Given the description of an element on the screen output the (x, y) to click on. 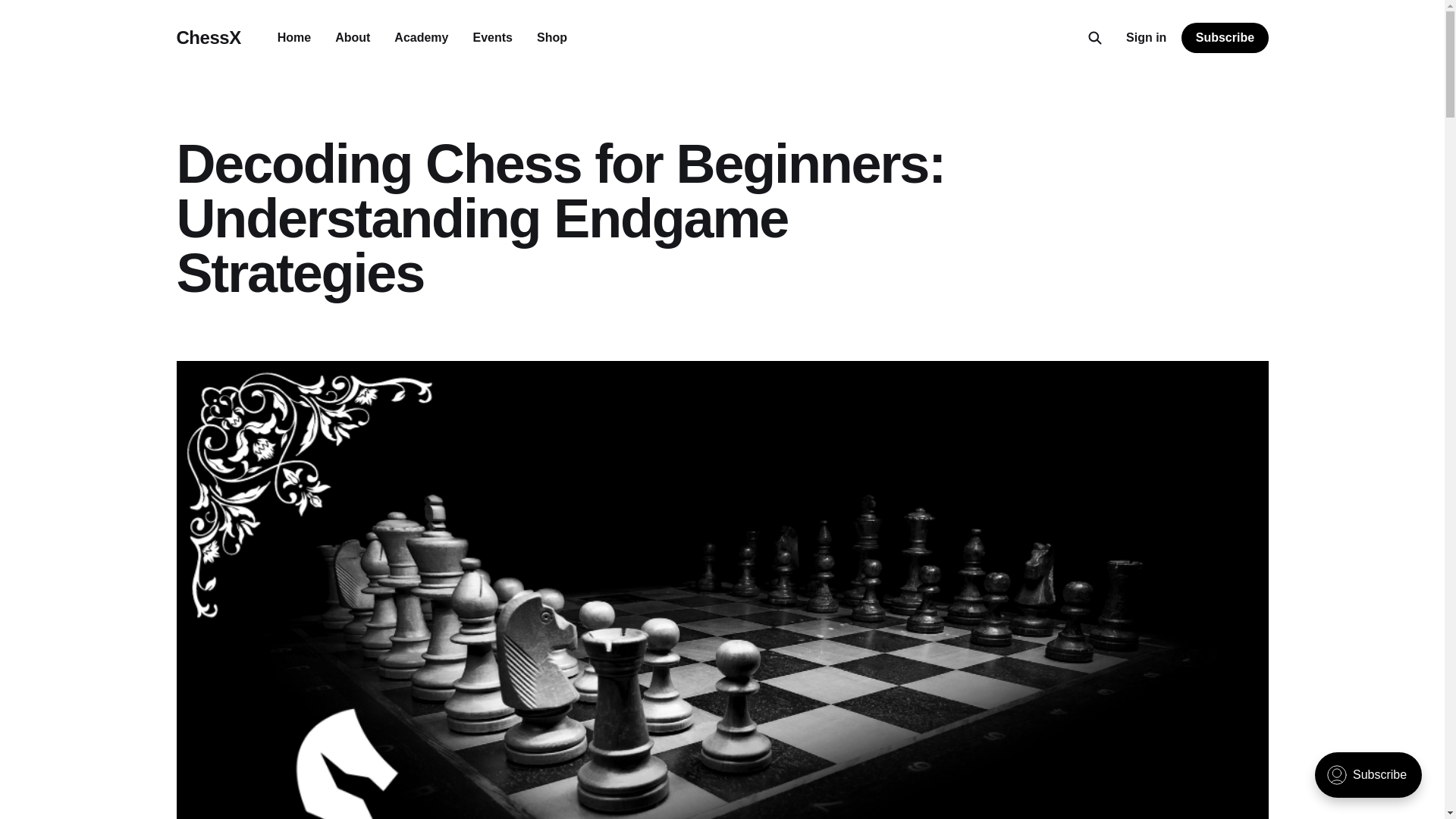
Home (294, 37)
ChessX (208, 37)
Events (491, 37)
Subscribe (1224, 37)
Academy (421, 37)
Sign in (1145, 37)
About (351, 37)
Shop (552, 37)
